Given the description of an element on the screen output the (x, y) to click on. 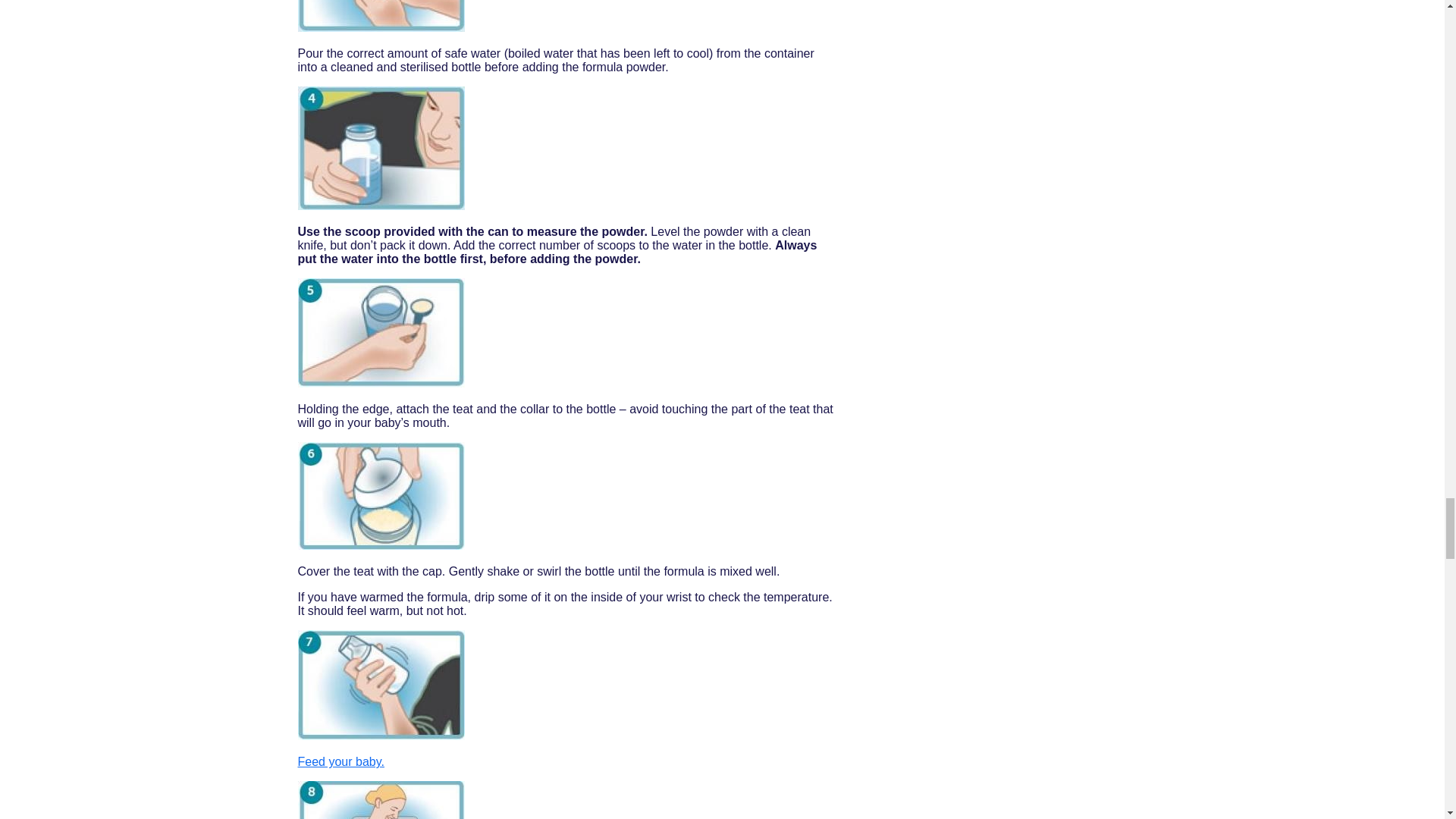
Feeding your baby (340, 761)
